Given the description of an element on the screen output the (x, y) to click on. 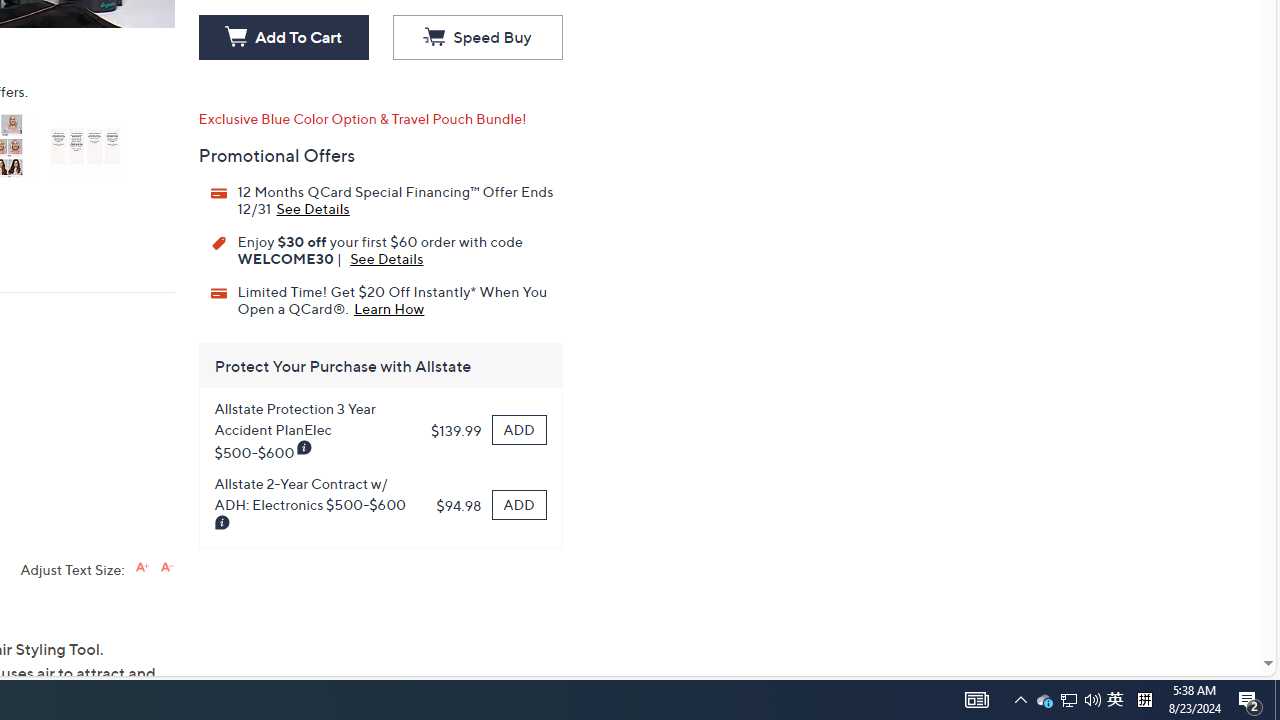
Decrease font size (166, 566)
Learn How (389, 307)
Increase font size (141, 566)
Add To Cart (283, 38)
12 Months QCard Special Financing Offer Ends 12/31 (312, 207)
See Details (386, 258)
Class: infoIcon fancybox fancybox.ajax (222, 523)
Speed Buy (477, 38)
